Given the description of an element on the screen output the (x, y) to click on. 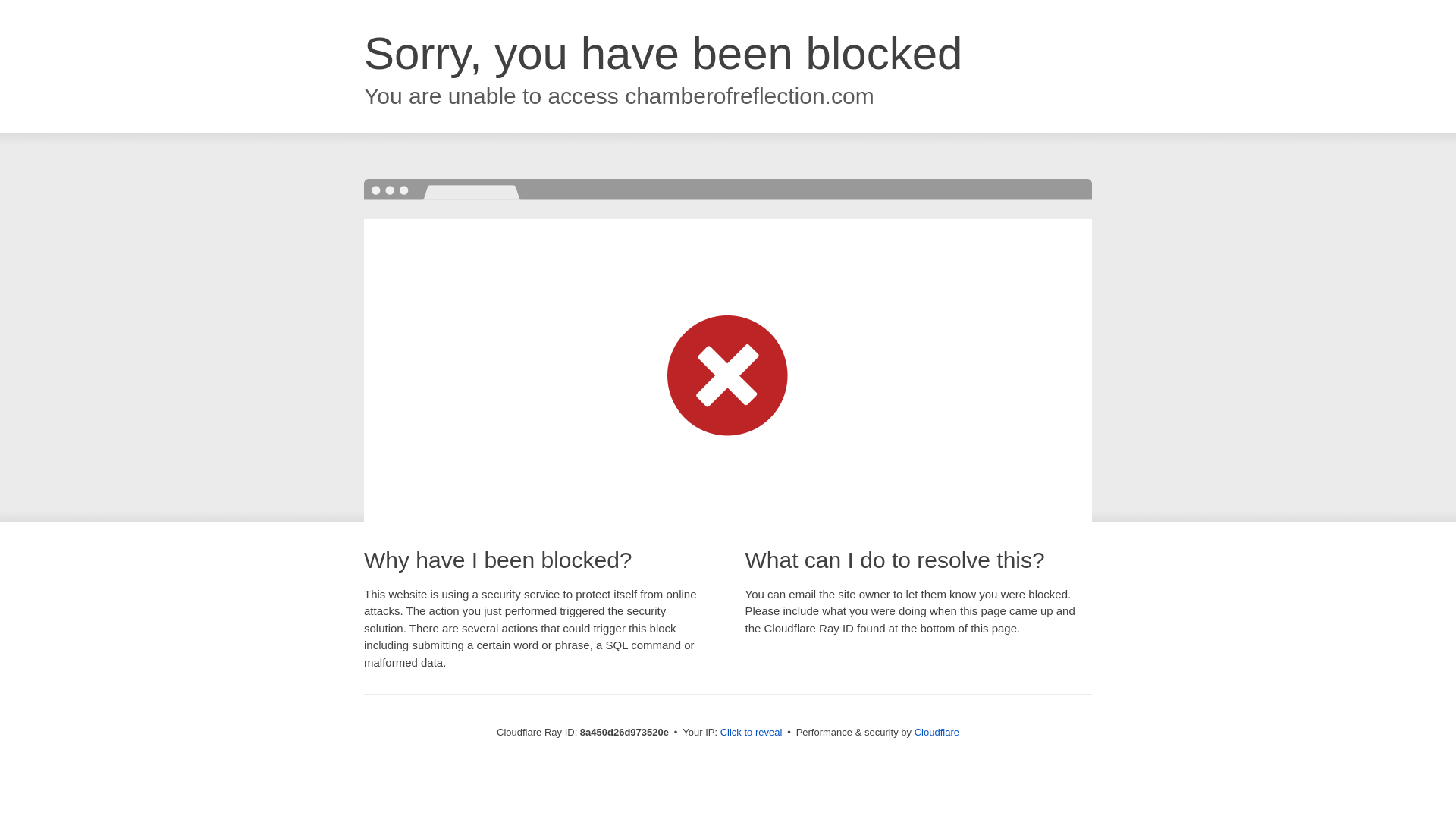
Click to reveal (751, 732)
Cloudflare (936, 731)
